Given the description of an element on the screen output the (x, y) to click on. 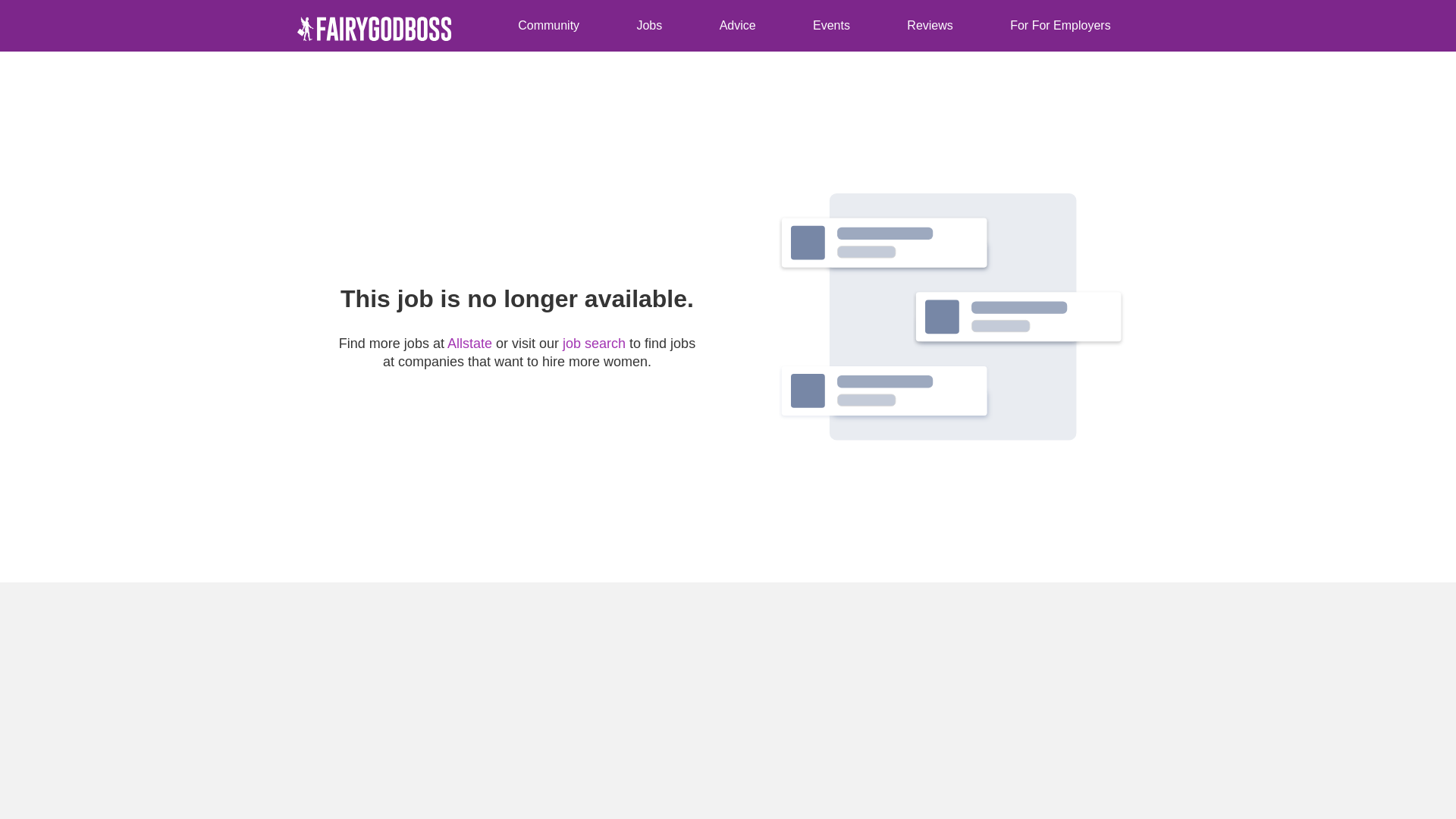
For For Employers (1059, 25)
Reviews (744, 25)
For Employers (833, 25)
Jobs (649, 25)
Community (548, 25)
Coach Connect (939, 25)
job search (594, 343)
Advice (737, 25)
For Employers (1059, 25)
Events (676, 25)
Community (548, 25)
Reviews (744, 25)
Jobs (549, 25)
Events (676, 25)
Reviews (929, 25)
